Given the description of an element on the screen output the (x, y) to click on. 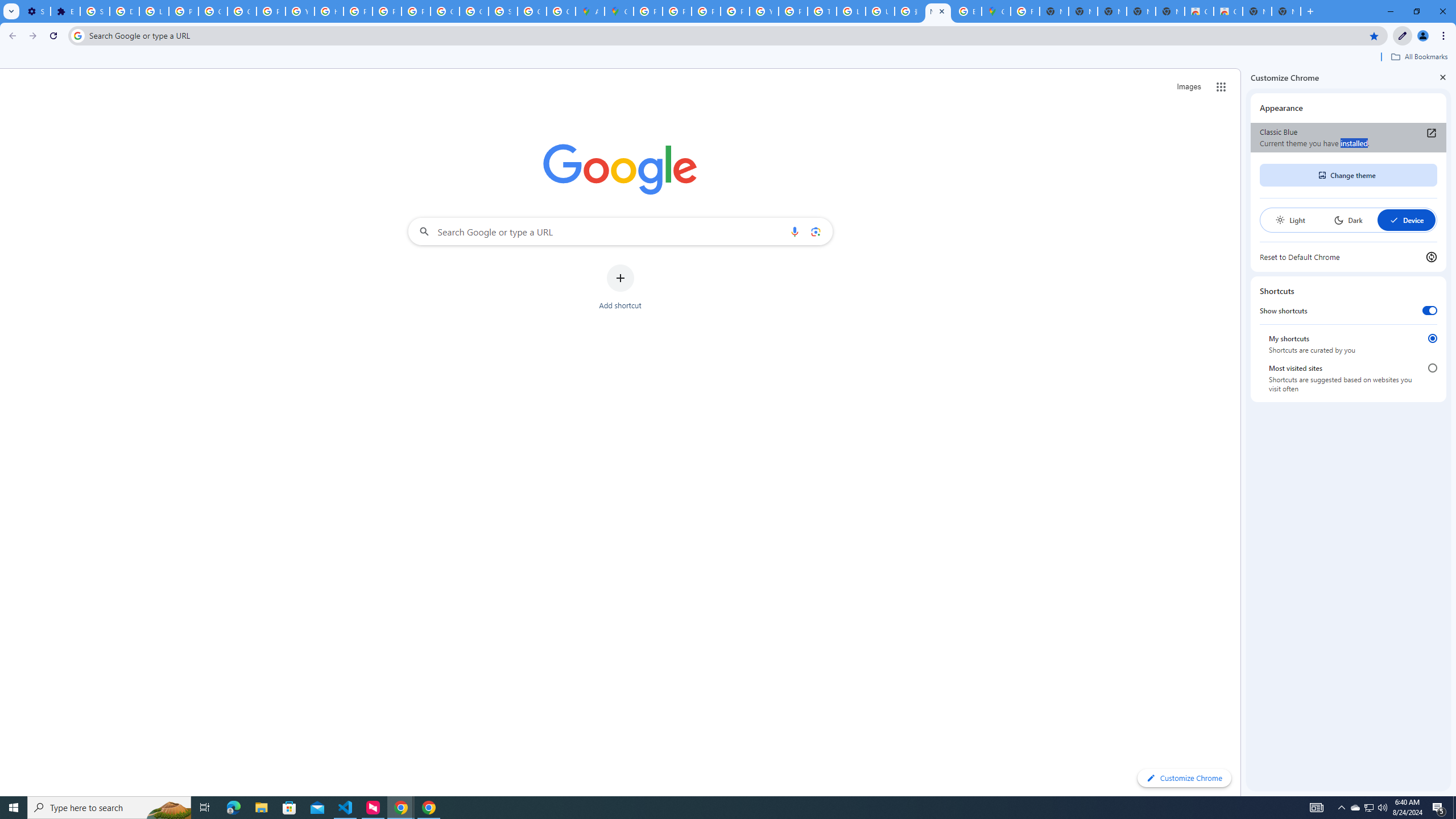
Show shortcuts (1429, 310)
My shortcuts (1432, 338)
Policy Accountability and Transparency - Transparency Center (648, 11)
Delete photos & videos - Computer - Google Photos Help (124, 11)
Most visited sites (1432, 367)
